Given the description of an element on the screen output the (x, y) to click on. 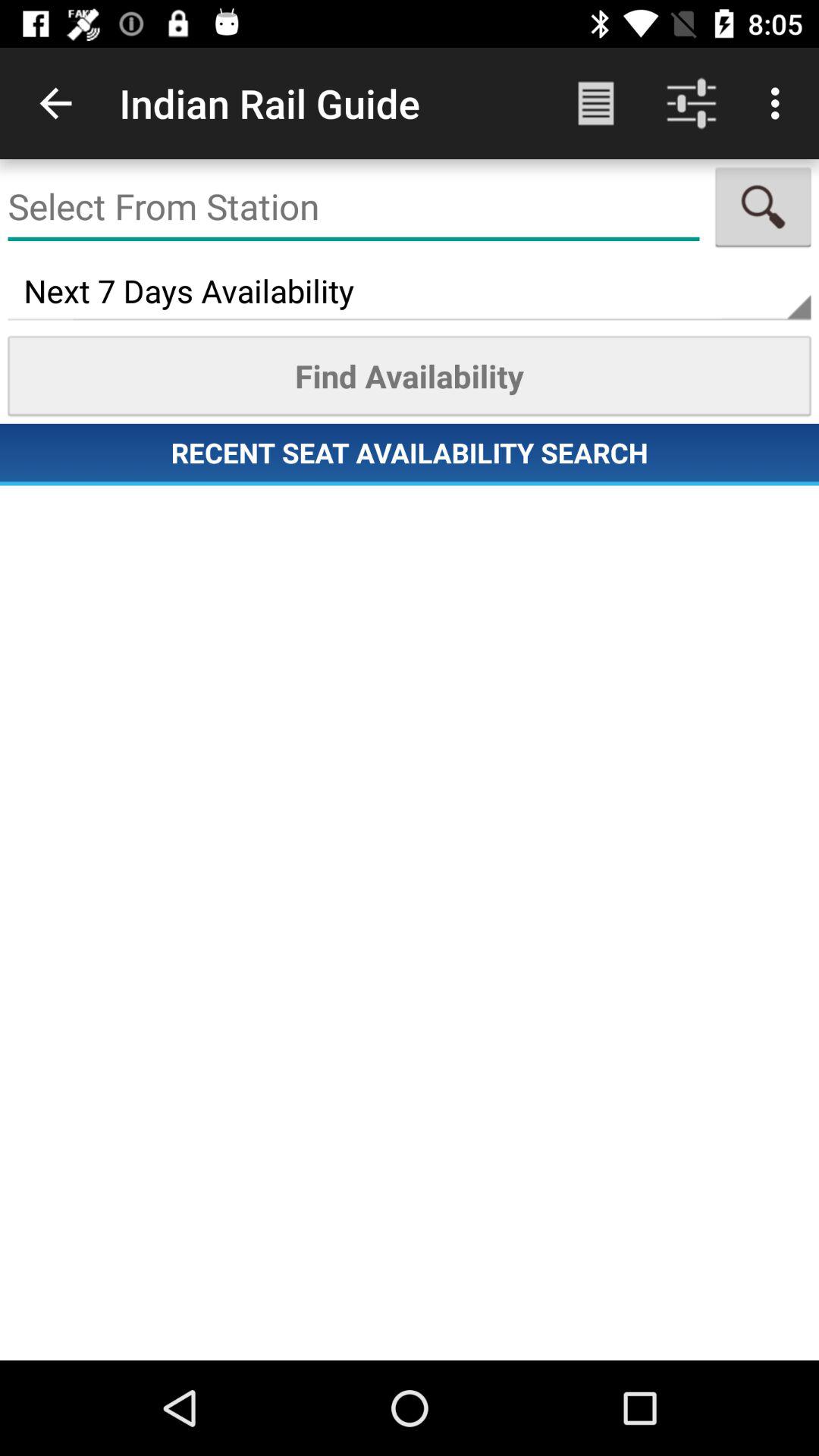
turn off the app to the right of indian rail guide (595, 103)
